Given the description of an element on the screen output the (x, y) to click on. 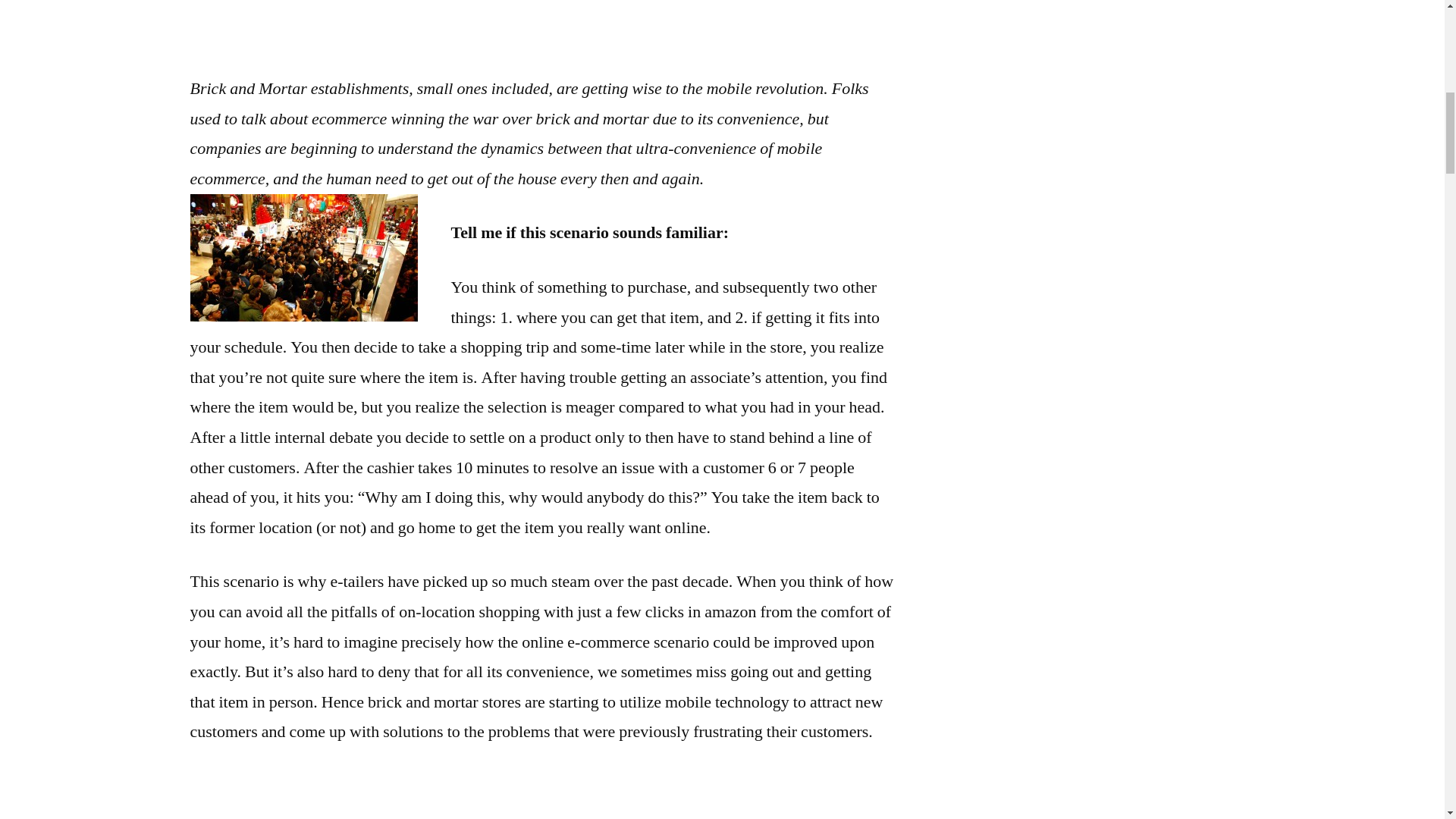
holiday-shopping (302, 257)
